Given the description of an element on the screen output the (x, y) to click on. 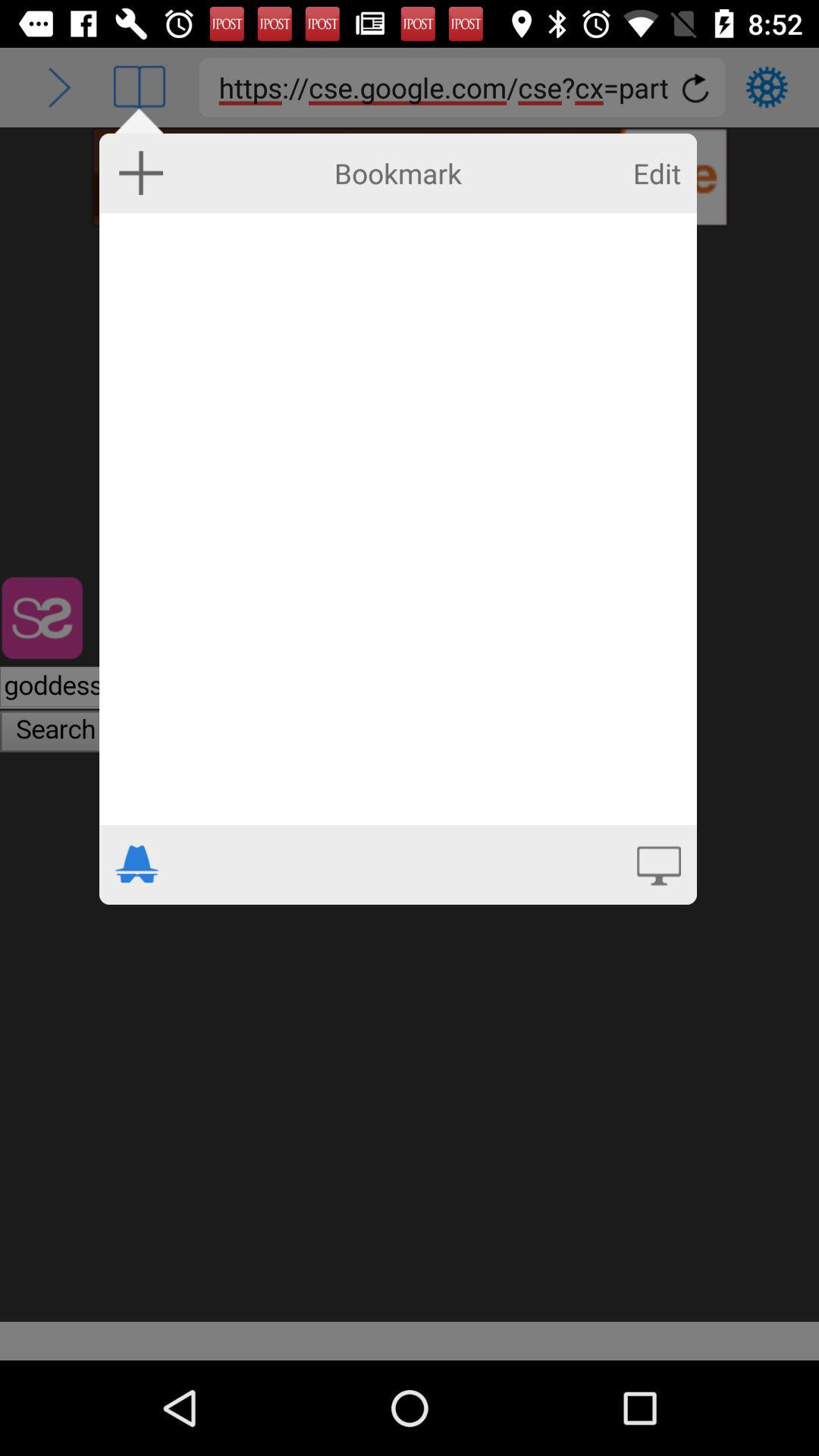
choose icon next to bookmark item (141, 172)
